Given the description of an element on the screen output the (x, y) to click on. 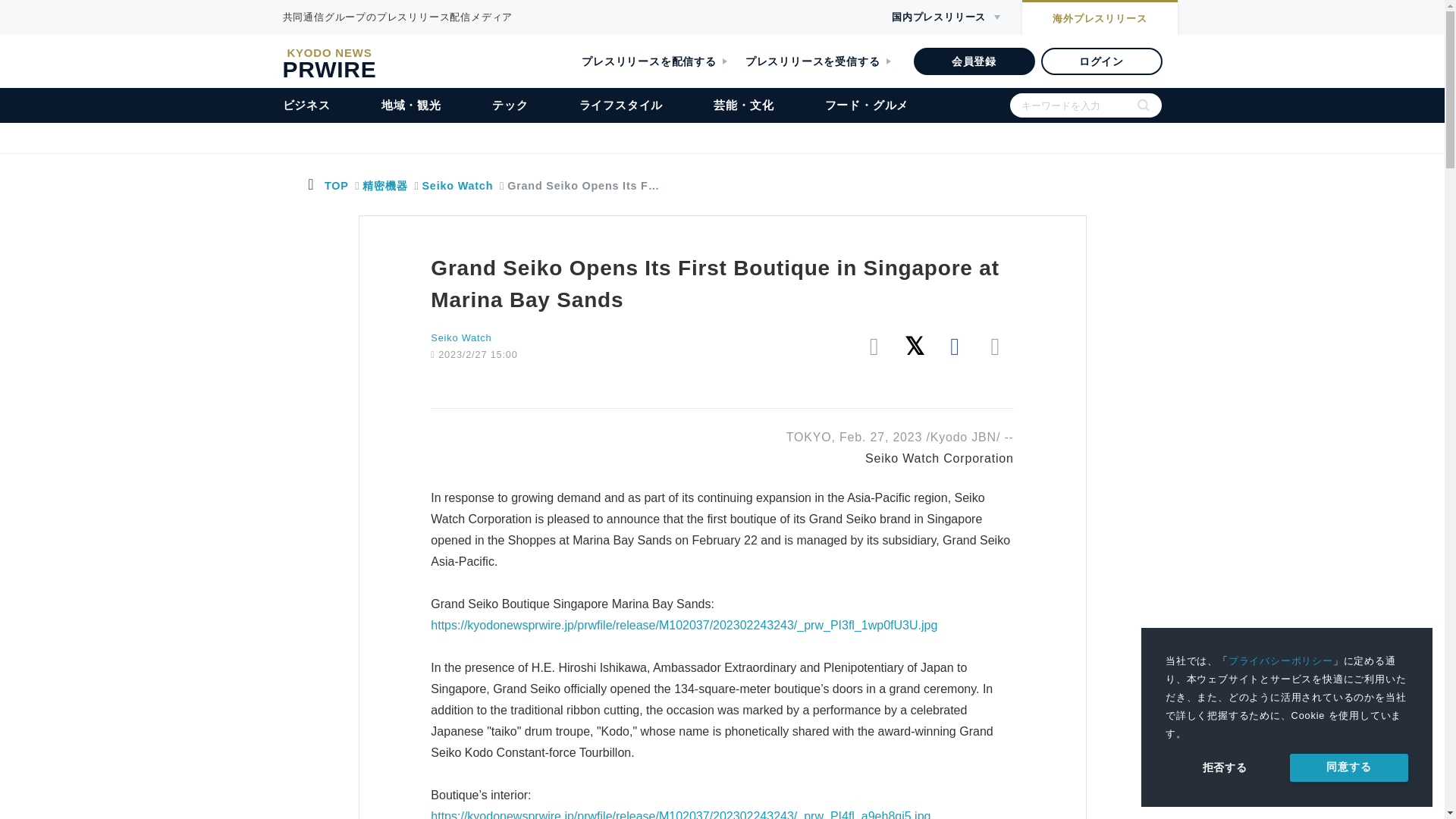
TOP (335, 185)
